Given the description of an element on the screen output the (x, y) to click on. 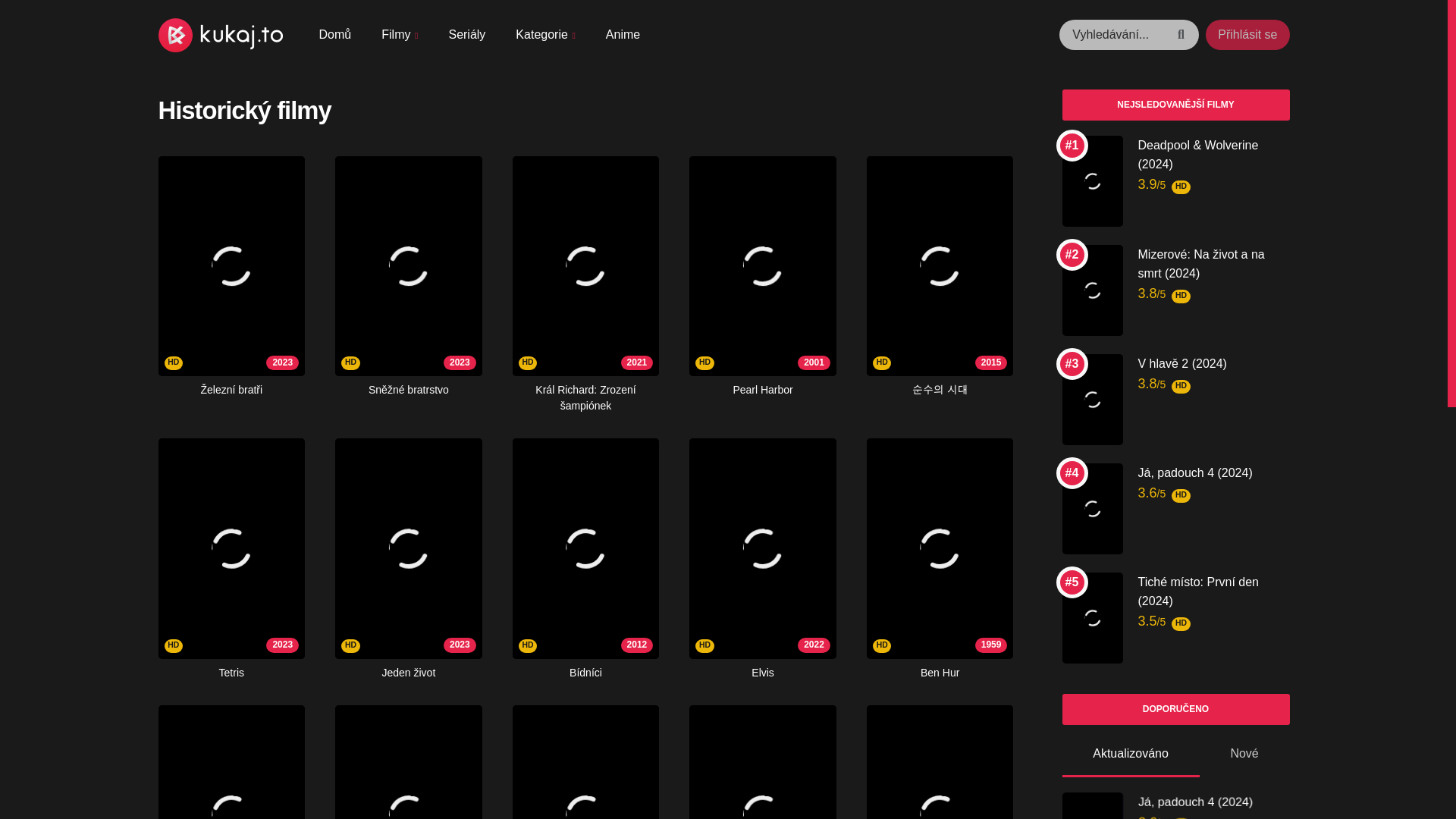
Kategorie (545, 34)
Filmy (230, 762)
Anime (399, 34)
